Given the description of an element on the screen output the (x, y) to click on. 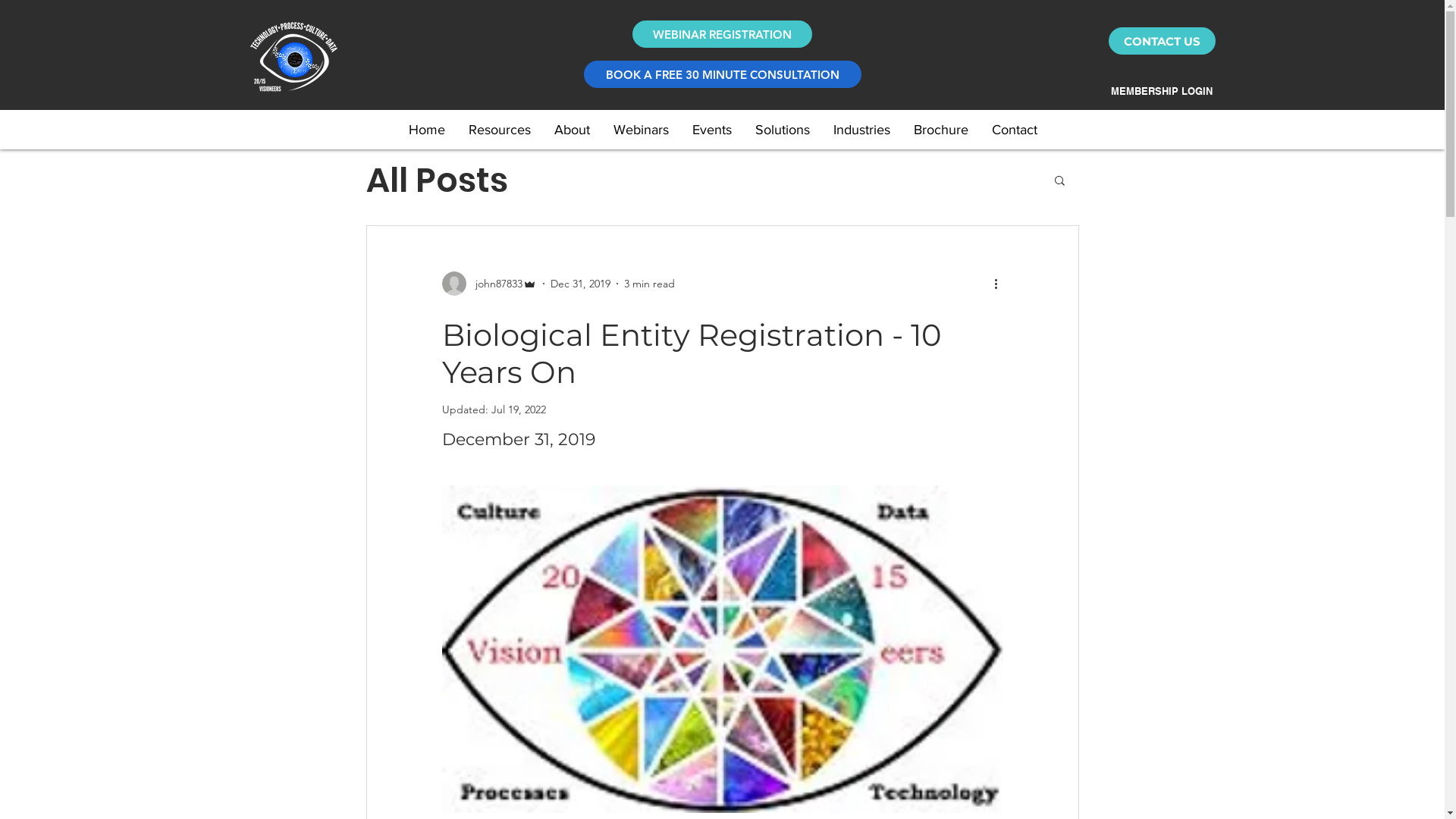
Resources Element type: text (499, 129)
WEBINAR REGISTRATION Element type: text (722, 33)
CONTACT US Element type: text (1161, 40)
john87833 Element type: text (488, 283)
Brochure Element type: text (939, 129)
Home Element type: text (425, 129)
Events Element type: text (710, 129)
Industries Element type: text (860, 129)
Contact Element type: text (1013, 129)
About Element type: text (570, 129)
Webinars Element type: text (639, 129)
BOOK A FREE 30 MINUTE CONSULTATION Element type: text (722, 73)
MEMBERSHIP LOGIN Element type: text (1156, 90)
All Posts Element type: text (436, 178)
Solutions Element type: text (782, 129)
